Given the description of an element on the screen output the (x, y) to click on. 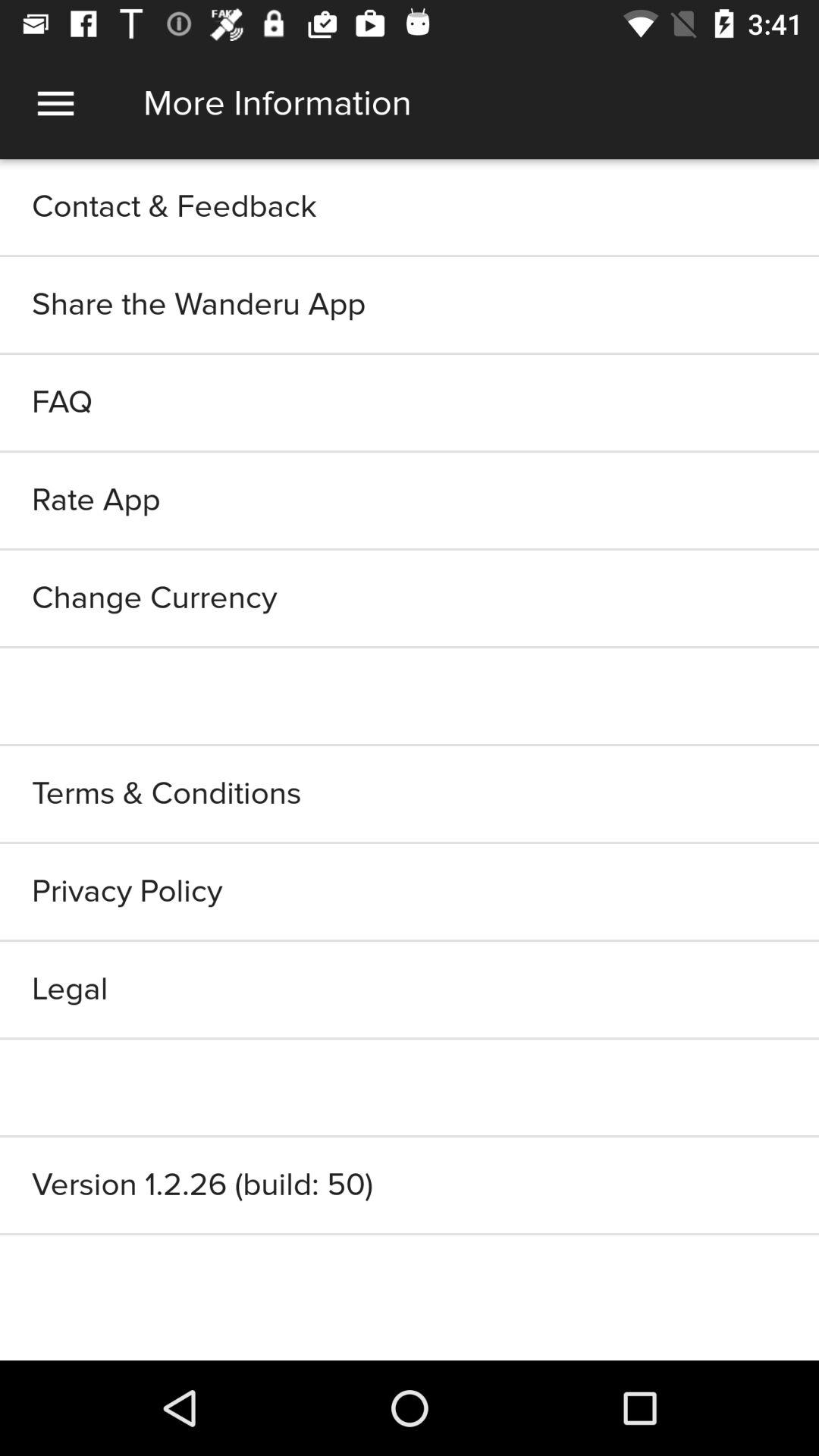
click icon below the contact & feedback item (409, 304)
